Given the description of an element on the screen output the (x, y) to click on. 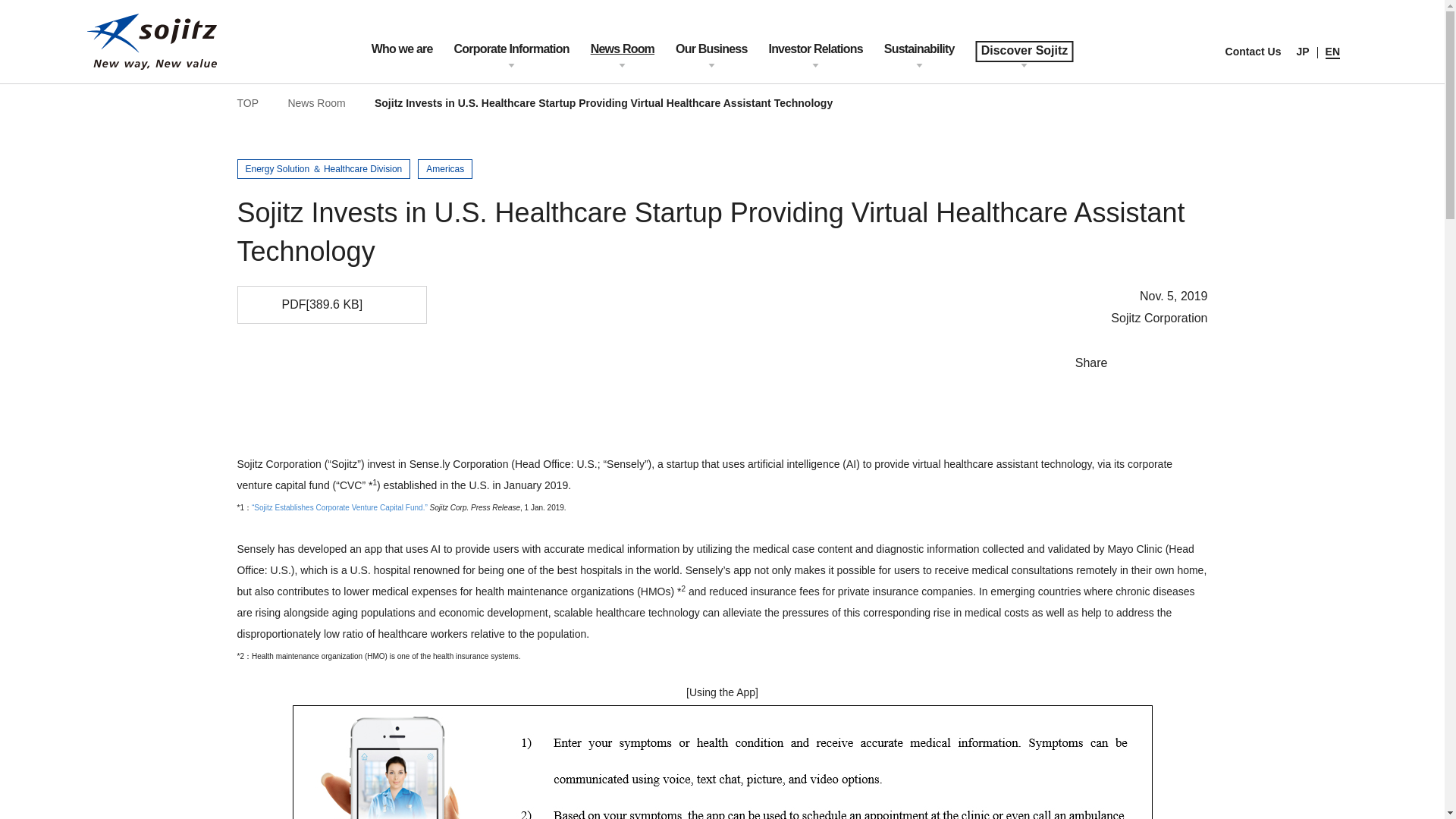
Corporate Information (511, 61)
News Room (622, 61)
Who we are (401, 61)
Our Business (710, 61)
